Given the description of an element on the screen output the (x, y) to click on. 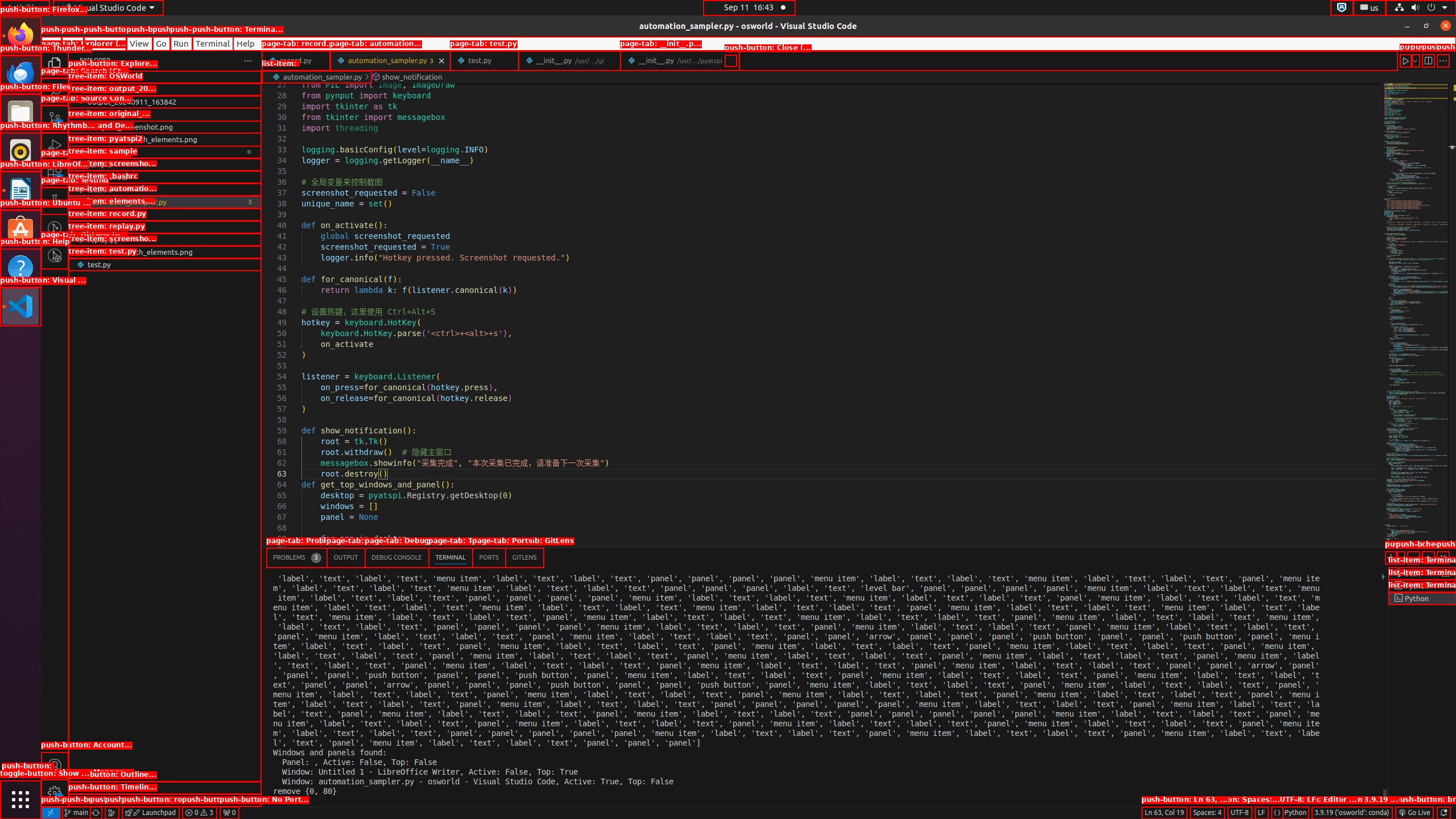
replay.py Element type: tree-item (164, 239)
Explorer (Ctrl+Shift+E) Element type: page-tab (54, 63)
Testing Element type: page-tab (54, 200)
